Given the description of an element on the screen output the (x, y) to click on. 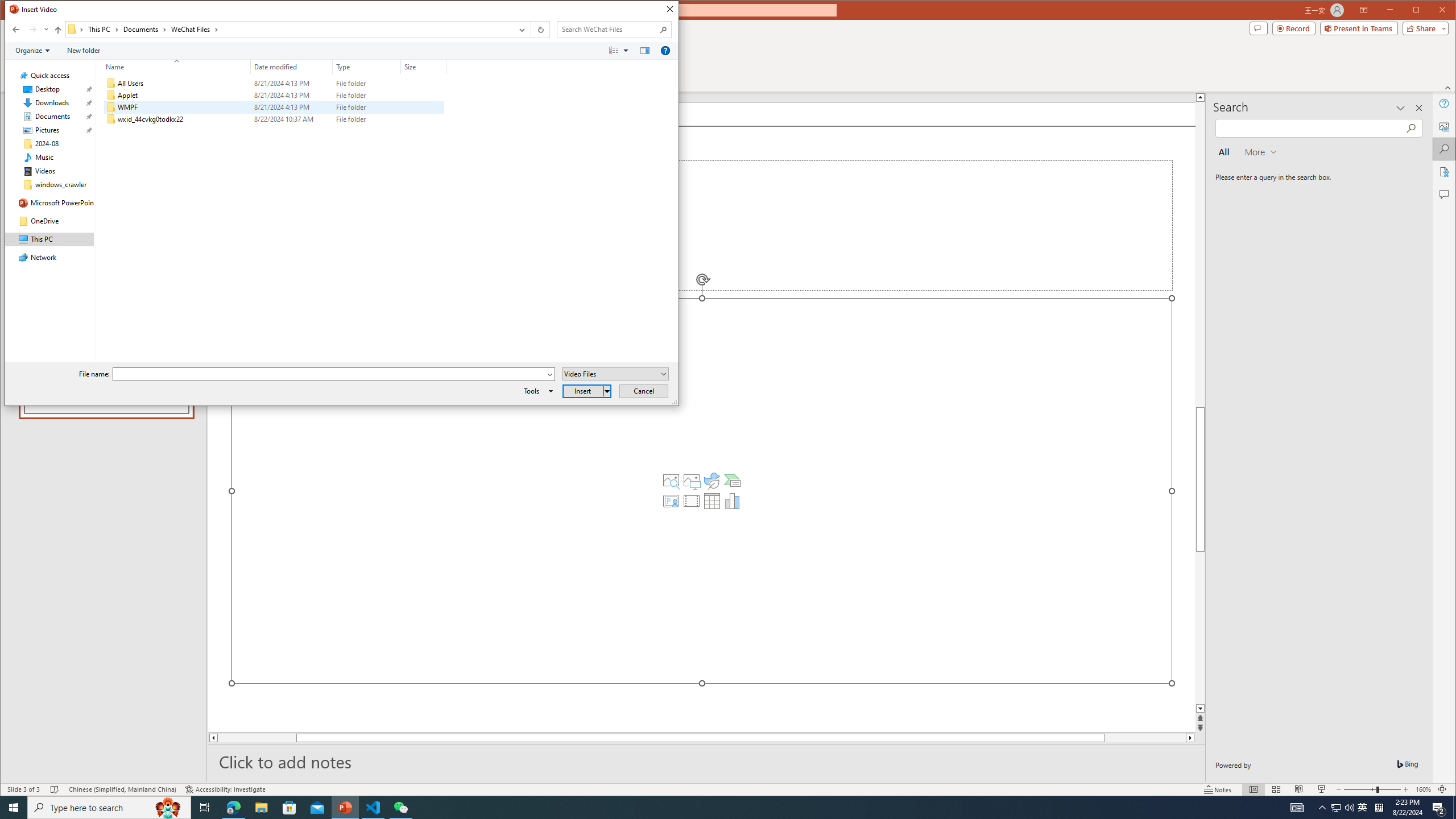
Insert a SmartArt Graphic (732, 480)
Back to Documents (Alt + Left Arrow) (15, 29)
Type (366, 66)
Up band toolbar (57, 31)
Up to "Documents" (Alt + Up Arrow) (57, 29)
